Given the description of an element on the screen output the (x, y) to click on. 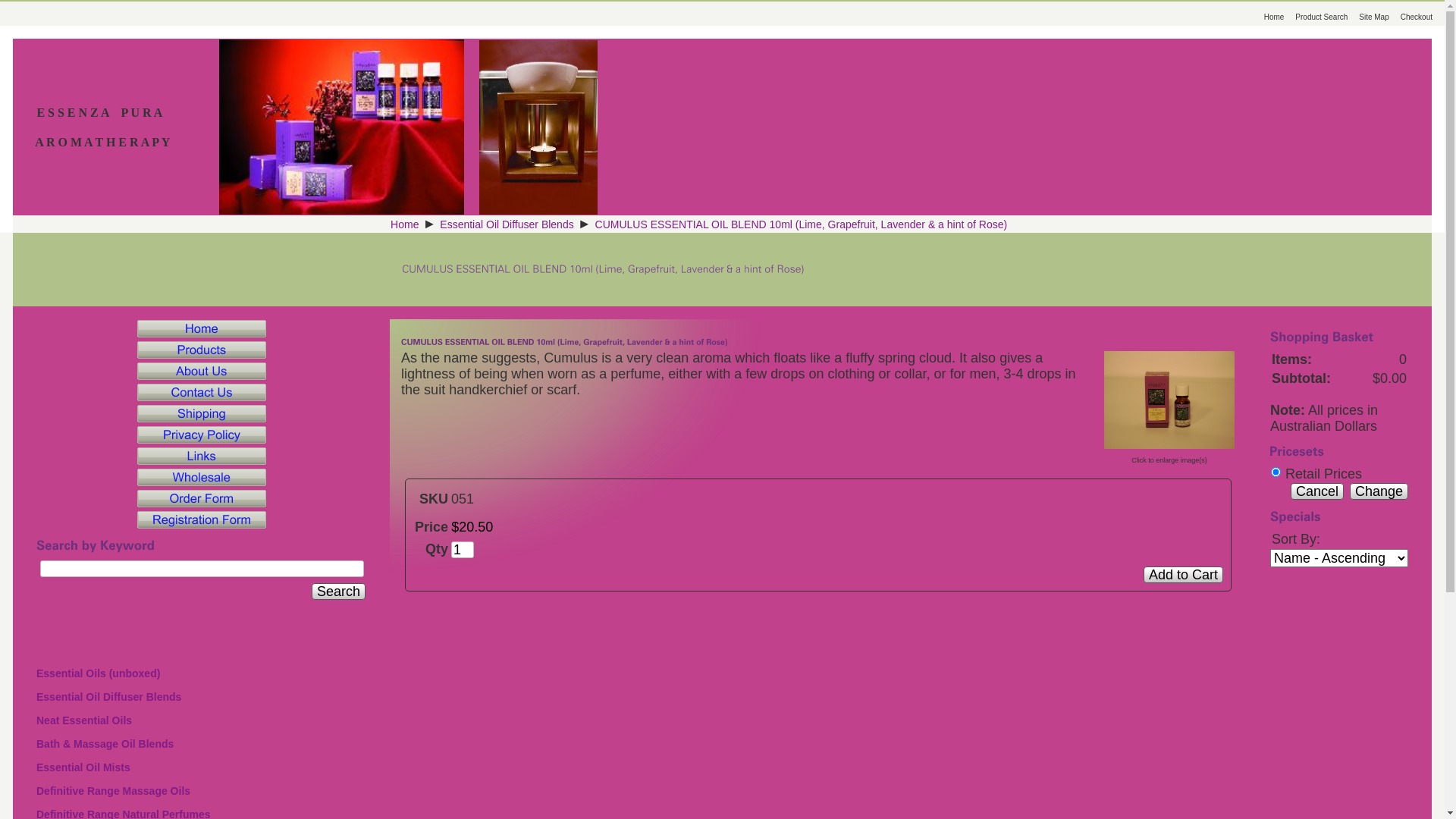
Definitive Range Massage Oils Element type: text (197, 792)
Cancel Element type: text (1316, 491)
Checkout Element type: text (1421, 16)
Add to Cart Element type: text (1183, 574)
Essential Oil Mists Element type: text (197, 769)
Essential Oil Diffuser Blends Element type: text (506, 224)
Essential Oils (unboxed) Element type: text (197, 675)
Bath & Massage Oil Blends Element type: text (197, 745)
Essential Oil Diffuser Blends Element type: text (197, 698)
Home Element type: text (1279, 16)
Search Element type: text (338, 591)
Product Search Element type: text (1326, 16)
Site Map Element type: text (1378, 16)
Change Element type: text (1378, 491)
Neat Essential Oils Element type: text (197, 722)
Home Element type: text (404, 224)
